Given the description of an element on the screen output the (x, y) to click on. 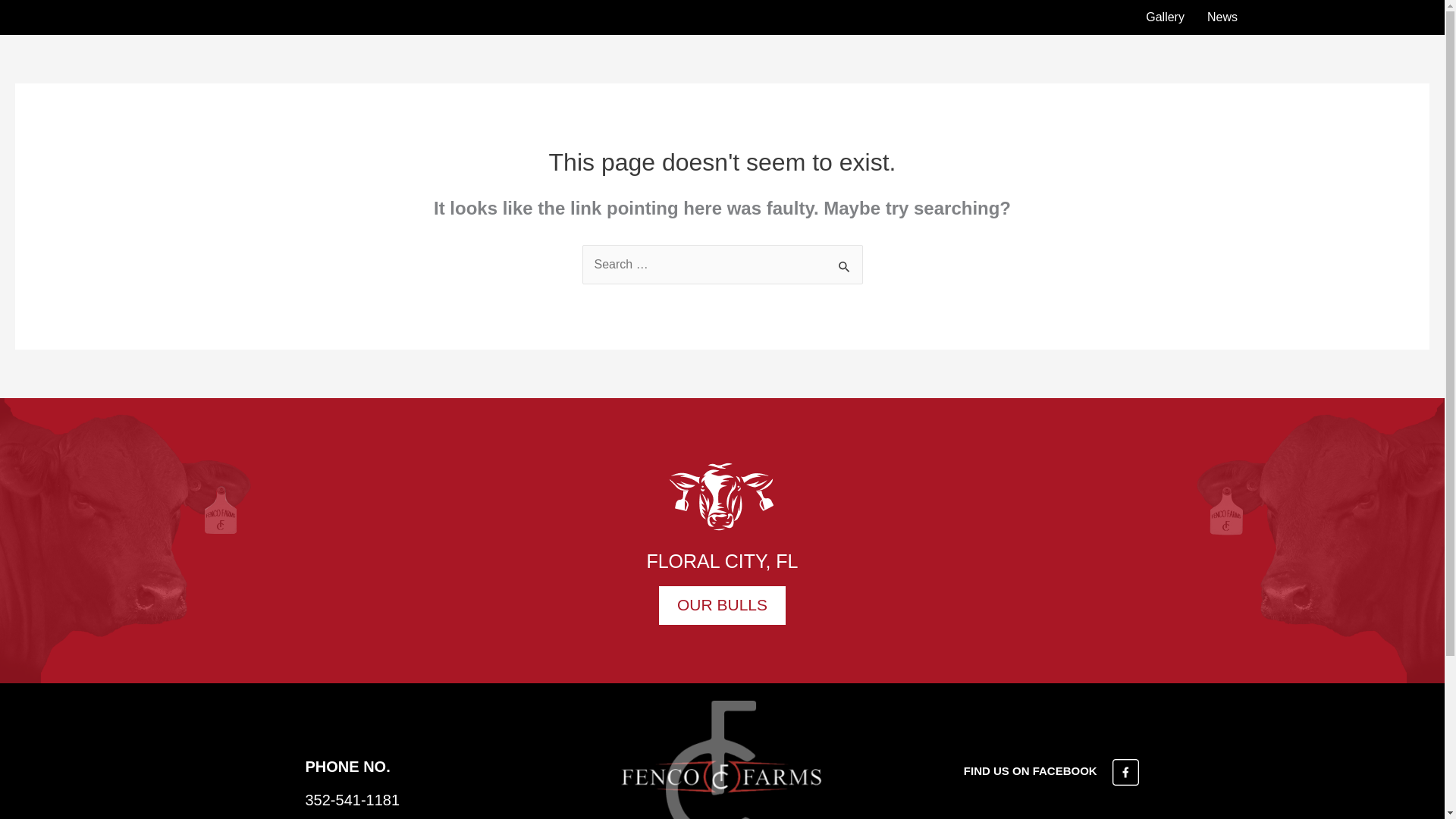
Gallery (1164, 17)
OUR BULLS (722, 605)
News (1222, 17)
352-541-1181 (351, 799)
FIND US ON FACEBOOK      (1051, 770)
